Given the description of an element on the screen output the (x, y) to click on. 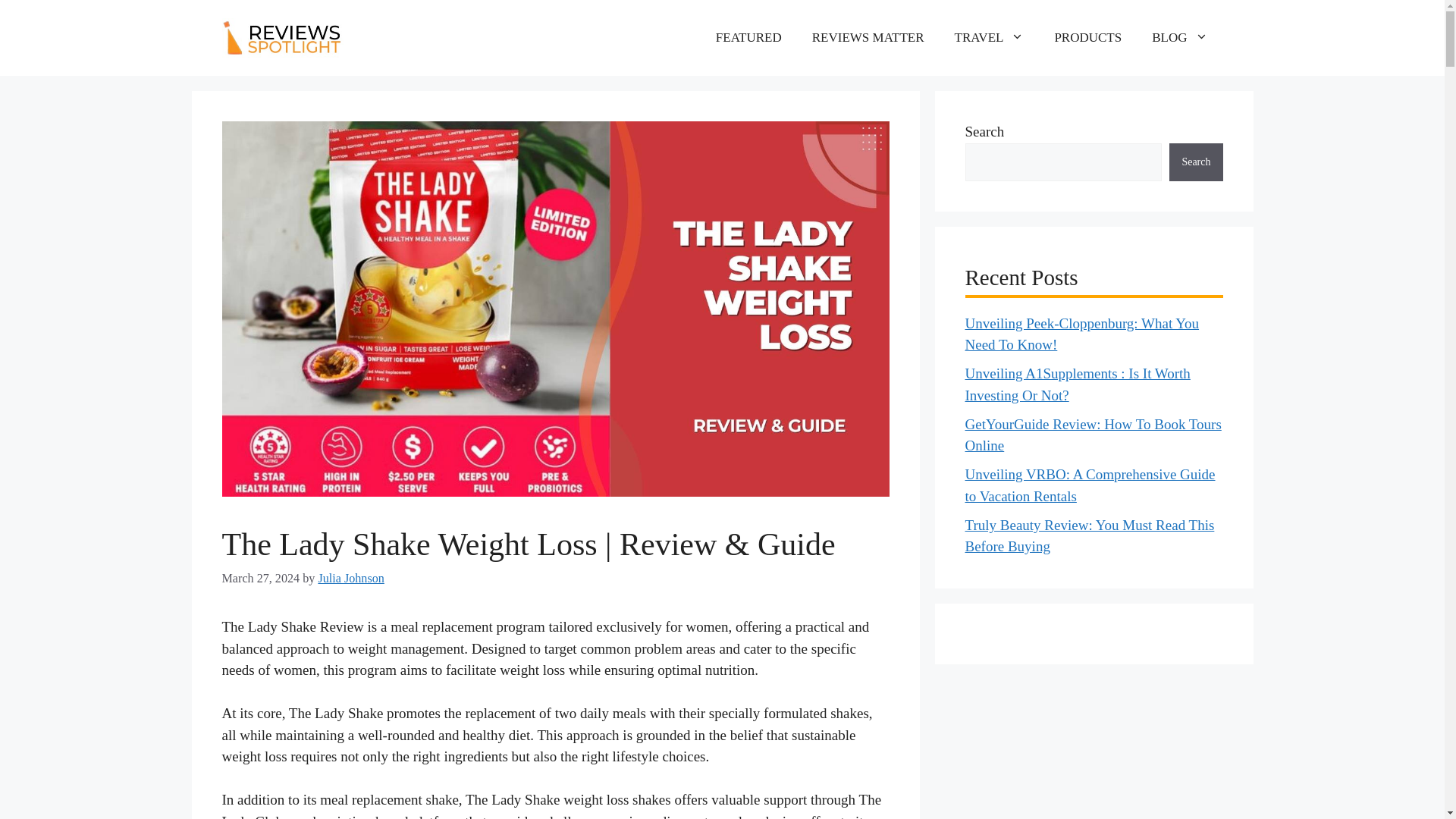
FEATURED (748, 37)
REVIEWS MATTER (867, 37)
TRAVEL (989, 37)
View all posts by Julia Johnson (350, 577)
PRODUCTS (1088, 37)
Julia Johnson (350, 577)
BLOG (1180, 37)
